Given the description of an element on the screen output the (x, y) to click on. 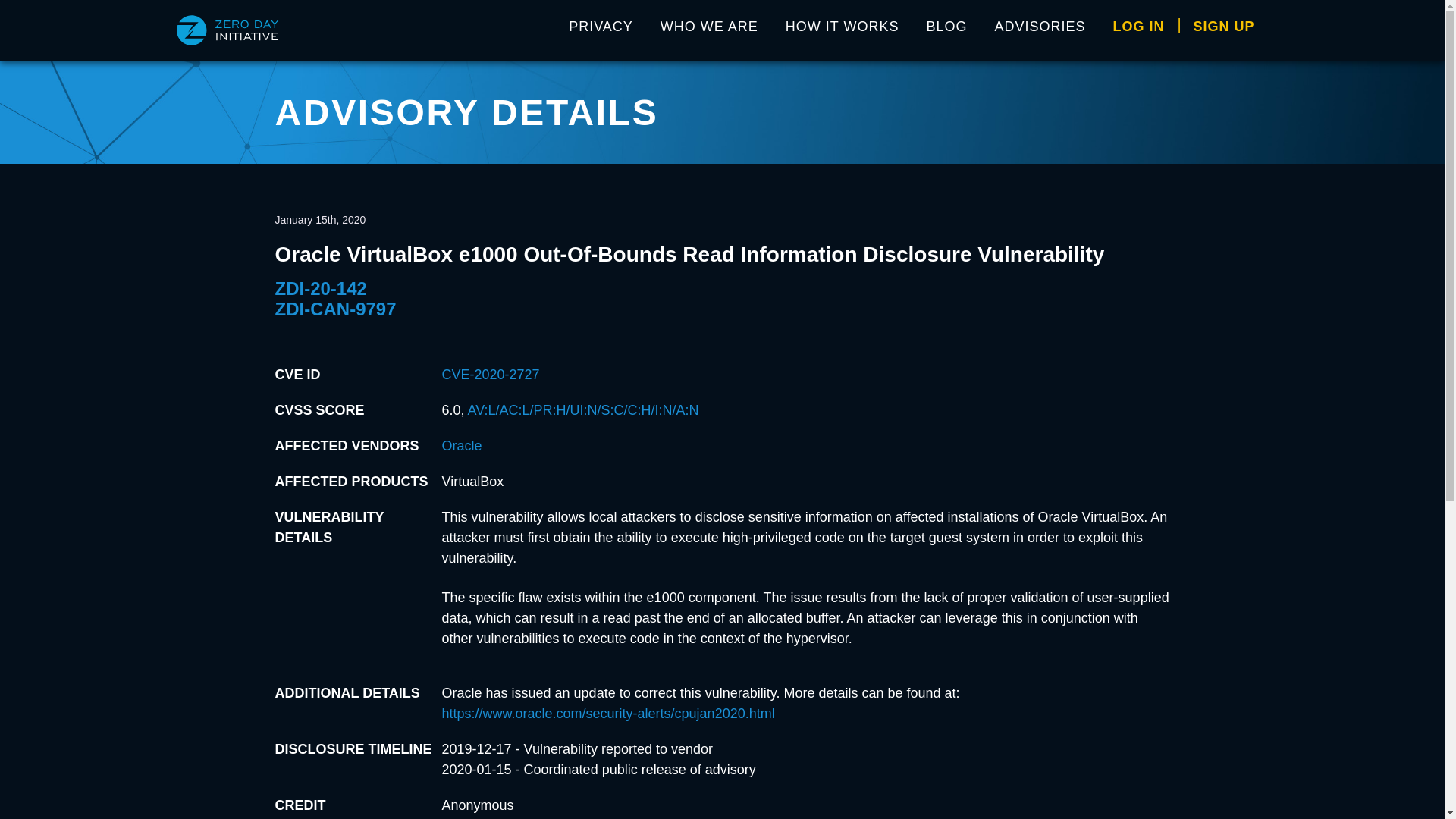
PRIVACY (600, 30)
ADVISORIES (1040, 30)
Oracle (461, 445)
WHO WE ARE (708, 30)
HOW IT WORKS (841, 30)
LOG IN (1138, 30)
SIGN UP (1224, 30)
CVE-2020-2727 (489, 374)
BLOG (946, 30)
